Given the description of an element on the screen output the (x, y) to click on. 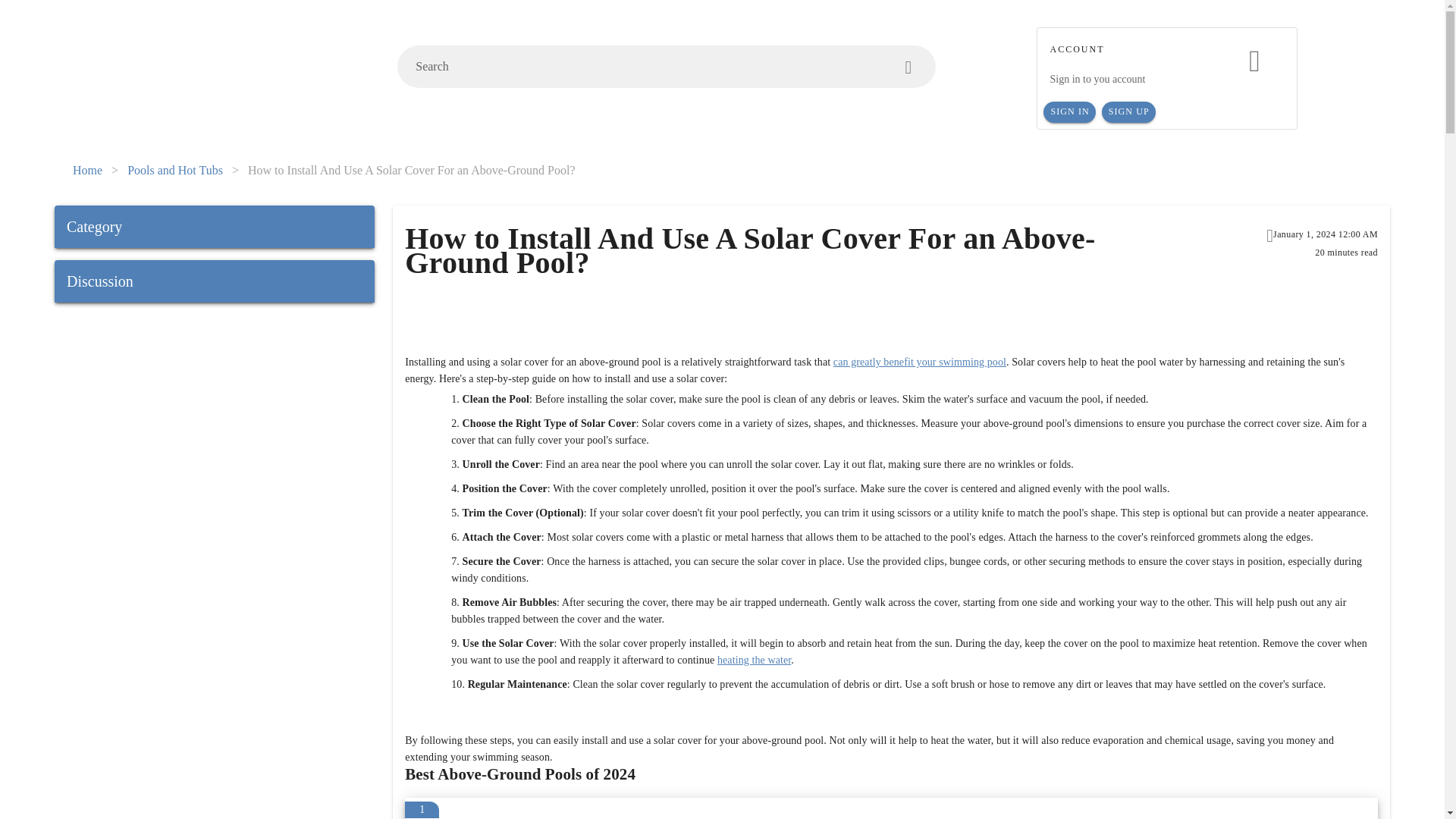
can greatly benefit your swimming pool (919, 361)
Pools and Hot Tubs (175, 170)
SIGN UP (1129, 111)
Home (86, 170)
SIGN IN (1068, 111)
heating the water (753, 659)
